Given the description of an element on the screen output the (x, y) to click on. 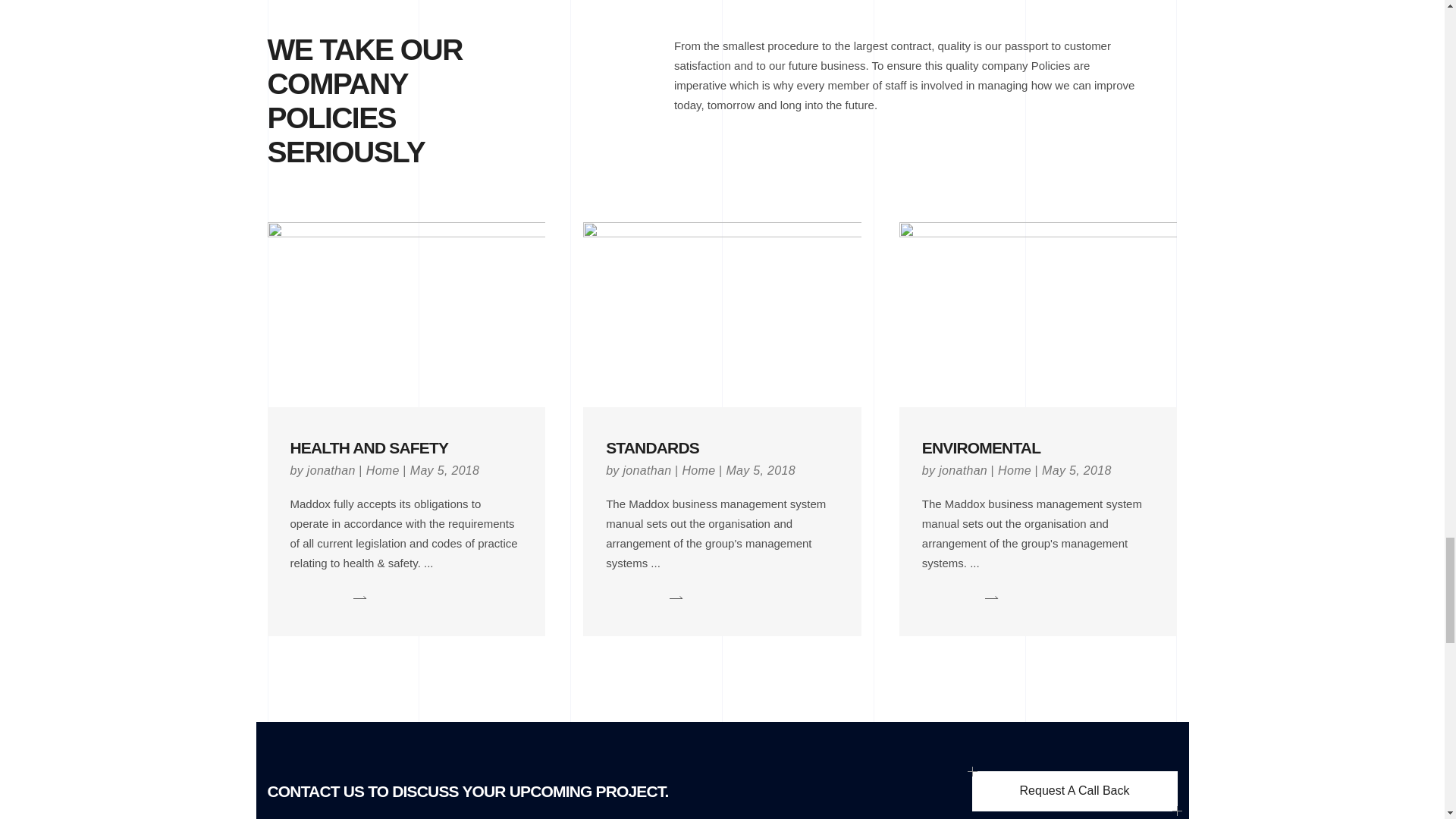
Standards (722, 314)
Enviromental (1038, 314)
Health and Safety (405, 314)
Health and Safety (368, 447)
Standards (651, 447)
Enviromental (981, 447)
